Given the description of an element on the screen output the (x, y) to click on. 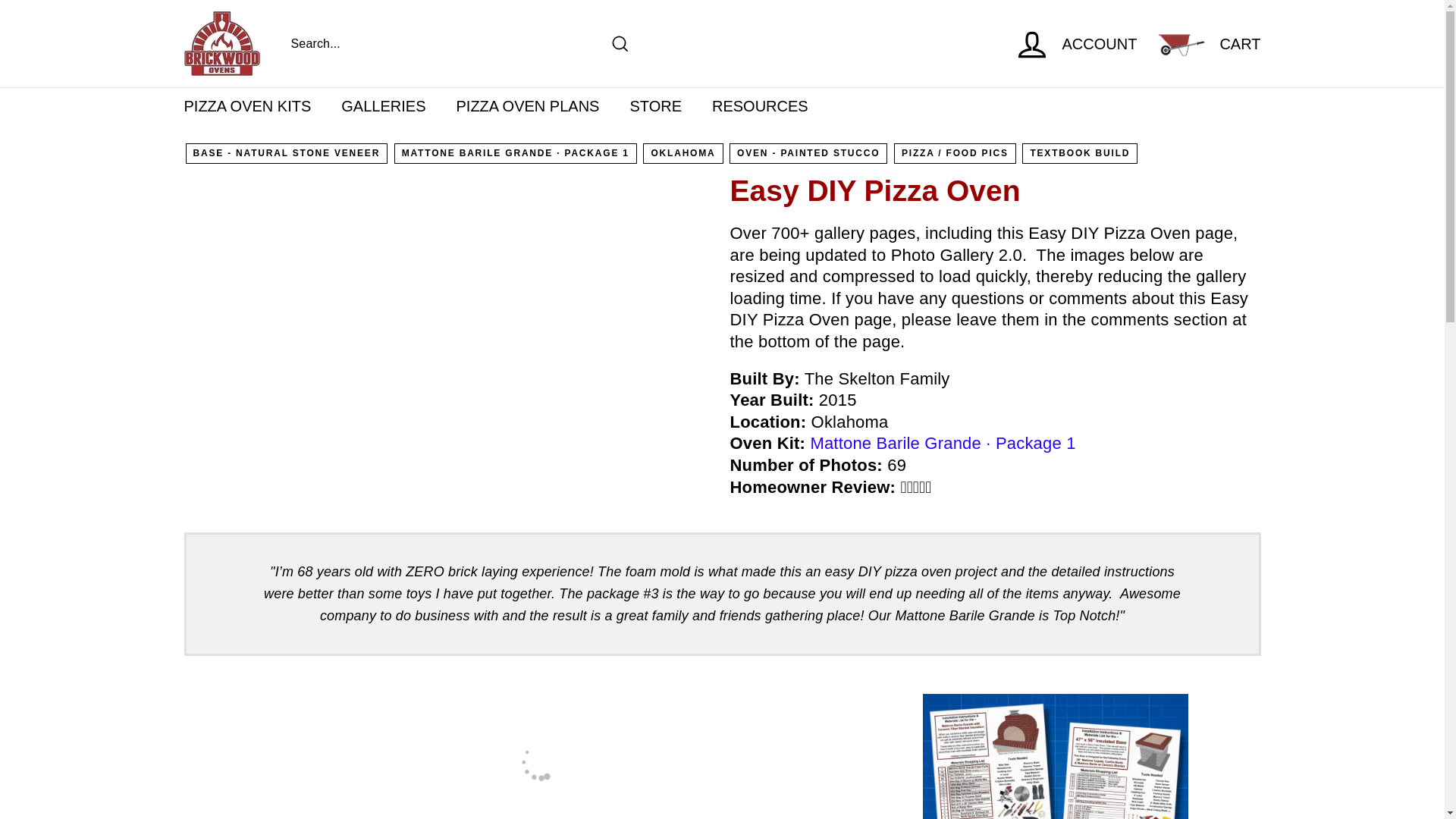
RESOURCES (760, 105)
PIZZA OVEN KITS (247, 105)
CART (1207, 42)
Outdoor Brick Oven (942, 443)
PIZZA OVEN PLANS (527, 105)
ACCOUNT (1075, 43)
GALLERIES (383, 105)
STORE (655, 105)
